Given the description of an element on the screen output the (x, y) to click on. 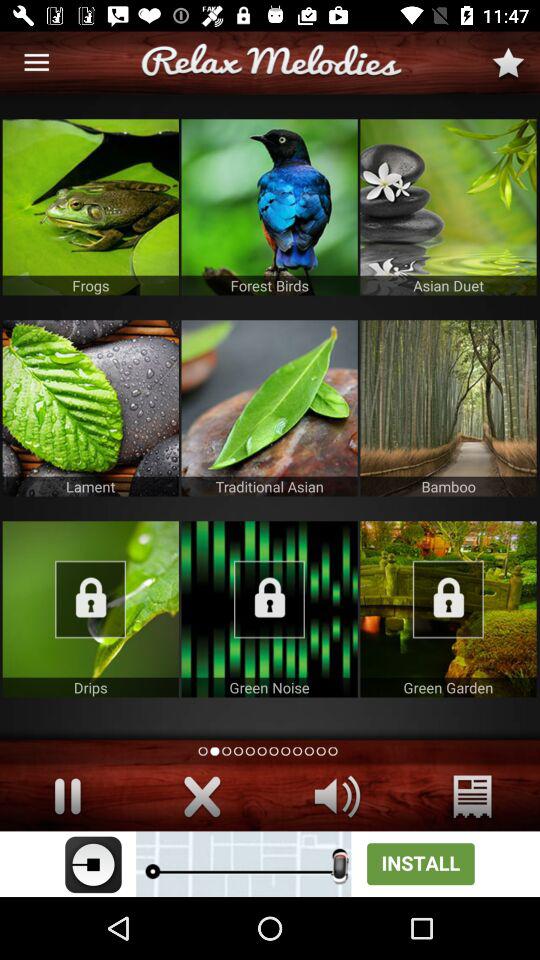
lament melodies (90, 408)
